Given the description of an element on the screen output the (x, y) to click on. 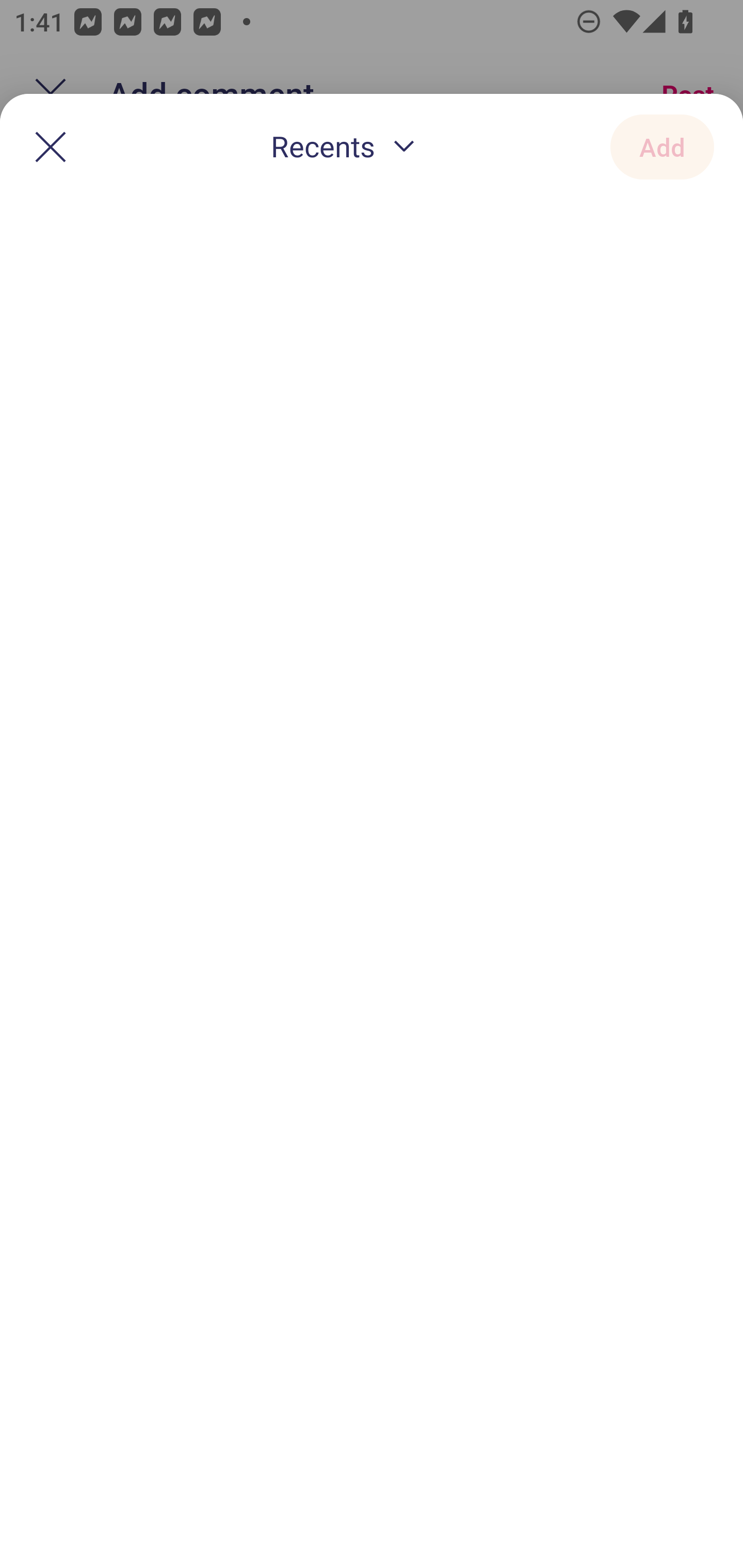
Selected folder: Recents Recents (346, 147)
Close (50, 146)
Add (662, 146)
